Given the description of an element on the screen output the (x, y) to click on. 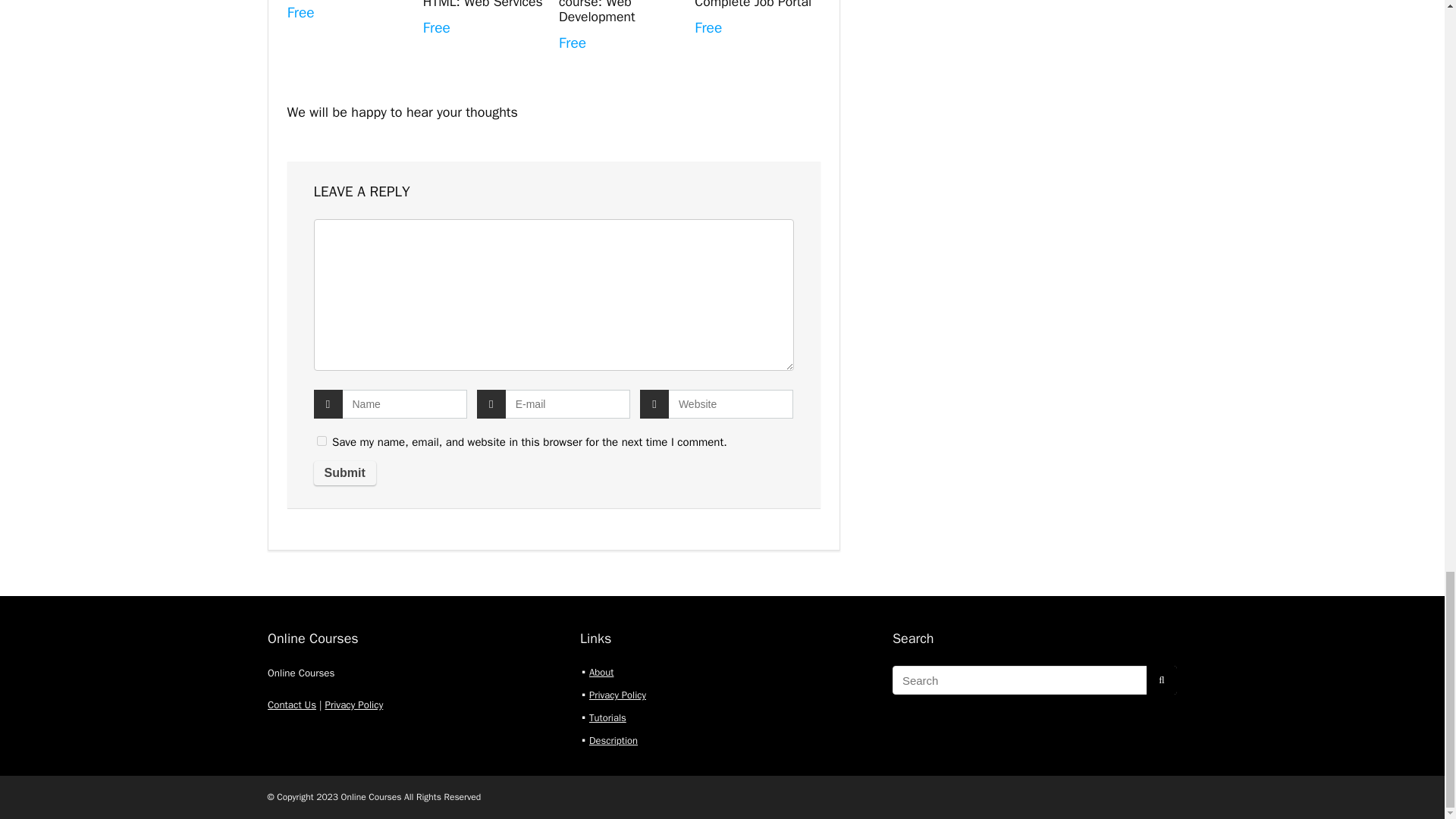
The Complete Python and JavaScript course: Web Development (620, 12)
PHP CodeIgniter 4 for 2024: Build Complete Job Portal (752, 4)
Learn Restful WEB API, JavaScript and HTML: Web Services (483, 4)
Submit (344, 473)
yes (321, 440)
Submit (344, 473)
